Given the description of an element on the screen output the (x, y) to click on. 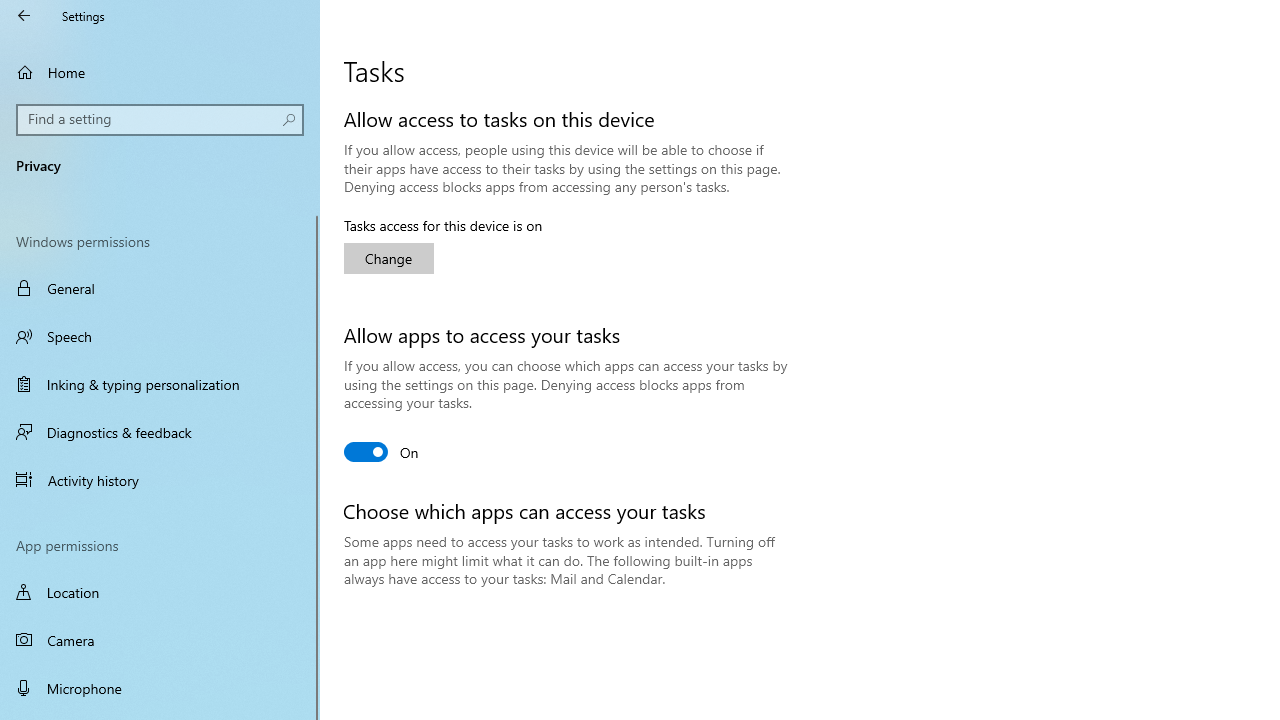
Speech (160, 335)
Home (160, 71)
Change (388, 258)
Microphone (160, 687)
Diagnostics & feedback (160, 431)
General (160, 287)
Activity history (160, 479)
Camera (160, 639)
Allow apps to access your tasks (381, 452)
Location (160, 592)
Search box, Find a setting (160, 119)
Inking & typing personalization (160, 384)
Back (24, 15)
